Given the description of an element on the screen output the (x, y) to click on. 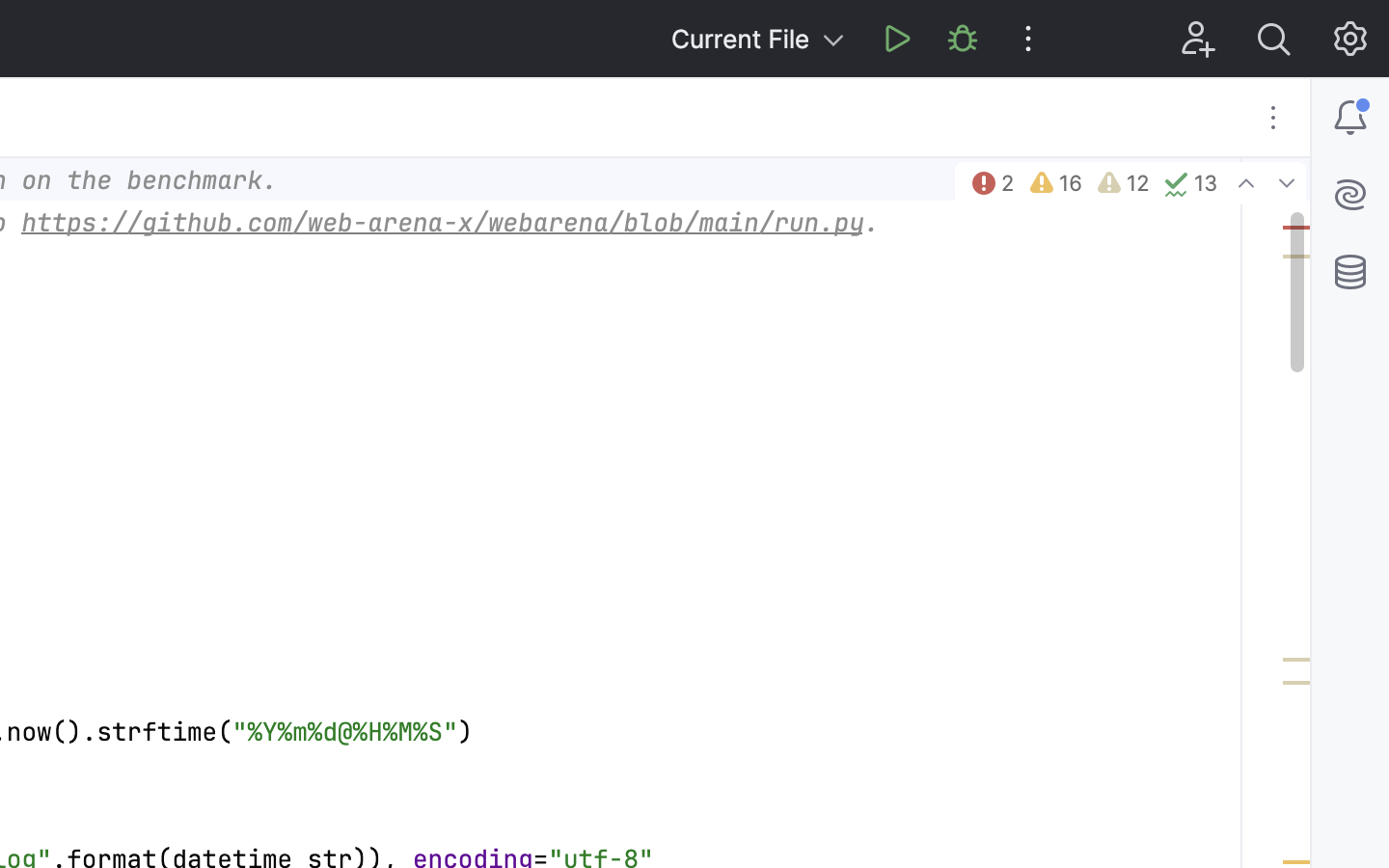
2 Element type: AXStaticText (991, 182)
